Given the description of an element on the screen output the (x, y) to click on. 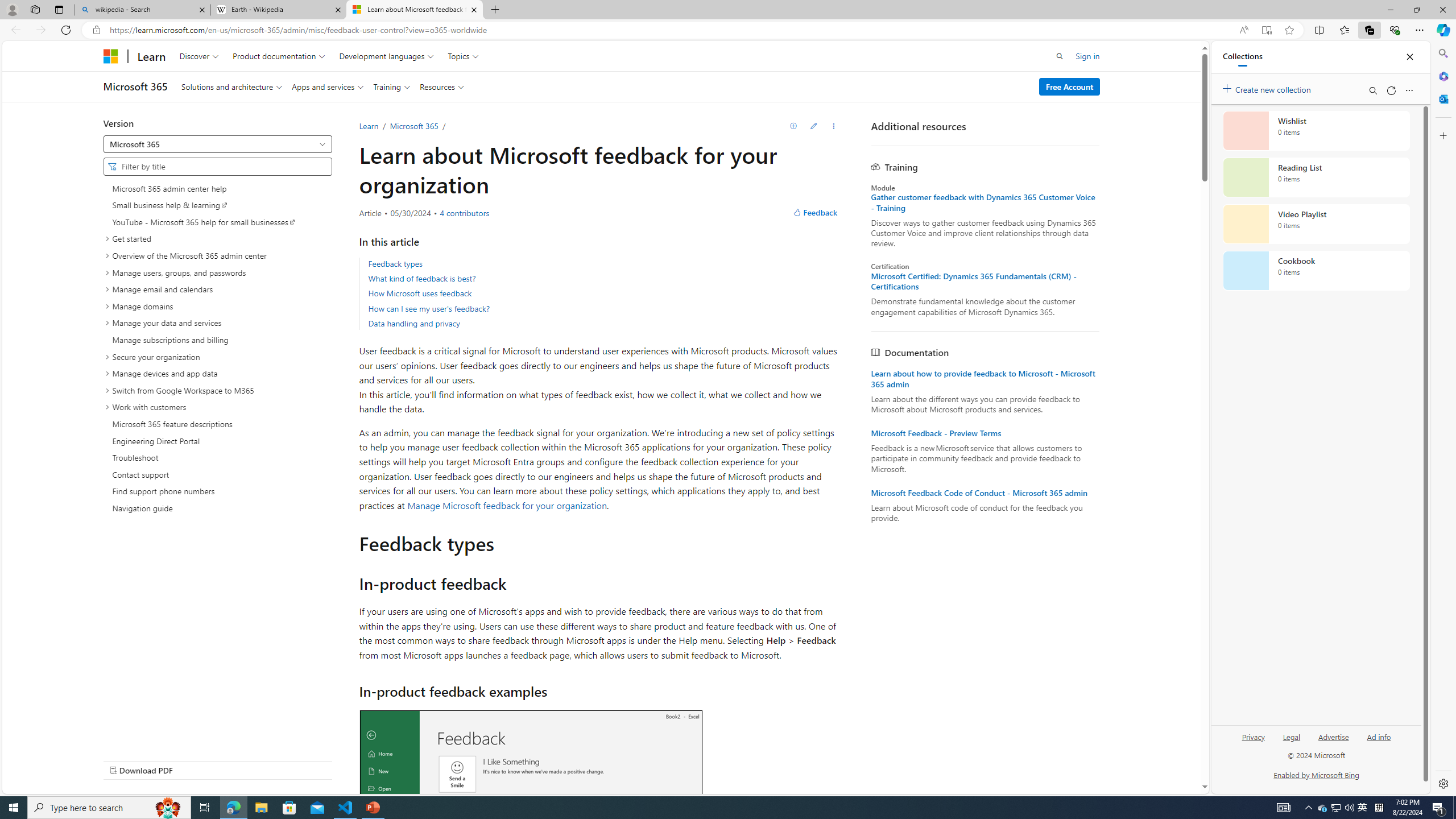
View site information (96, 29)
Feedback types (395, 262)
Close tab (473, 9)
Manage Microsoft feedback for your organization (507, 504)
Wishlist collection, 0 items (1316, 130)
Advertise (1333, 736)
Legal (1291, 736)
Customize (1442, 135)
Browser essentials (1394, 29)
Address and search bar (670, 29)
